Given the description of an element on the screen output the (x, y) to click on. 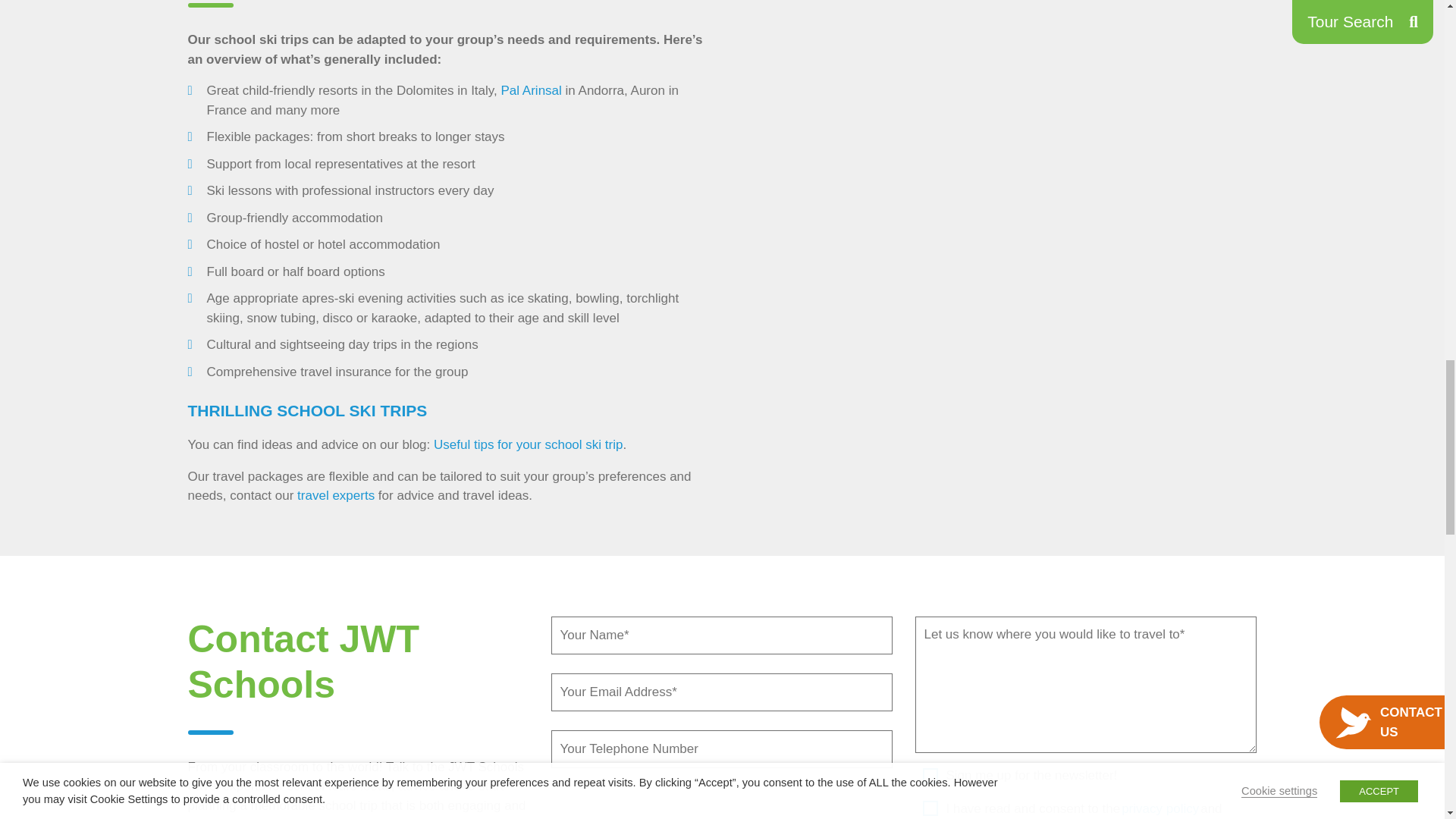
1 (930, 798)
1 (930, 776)
